Given the description of an element on the screen output the (x, y) to click on. 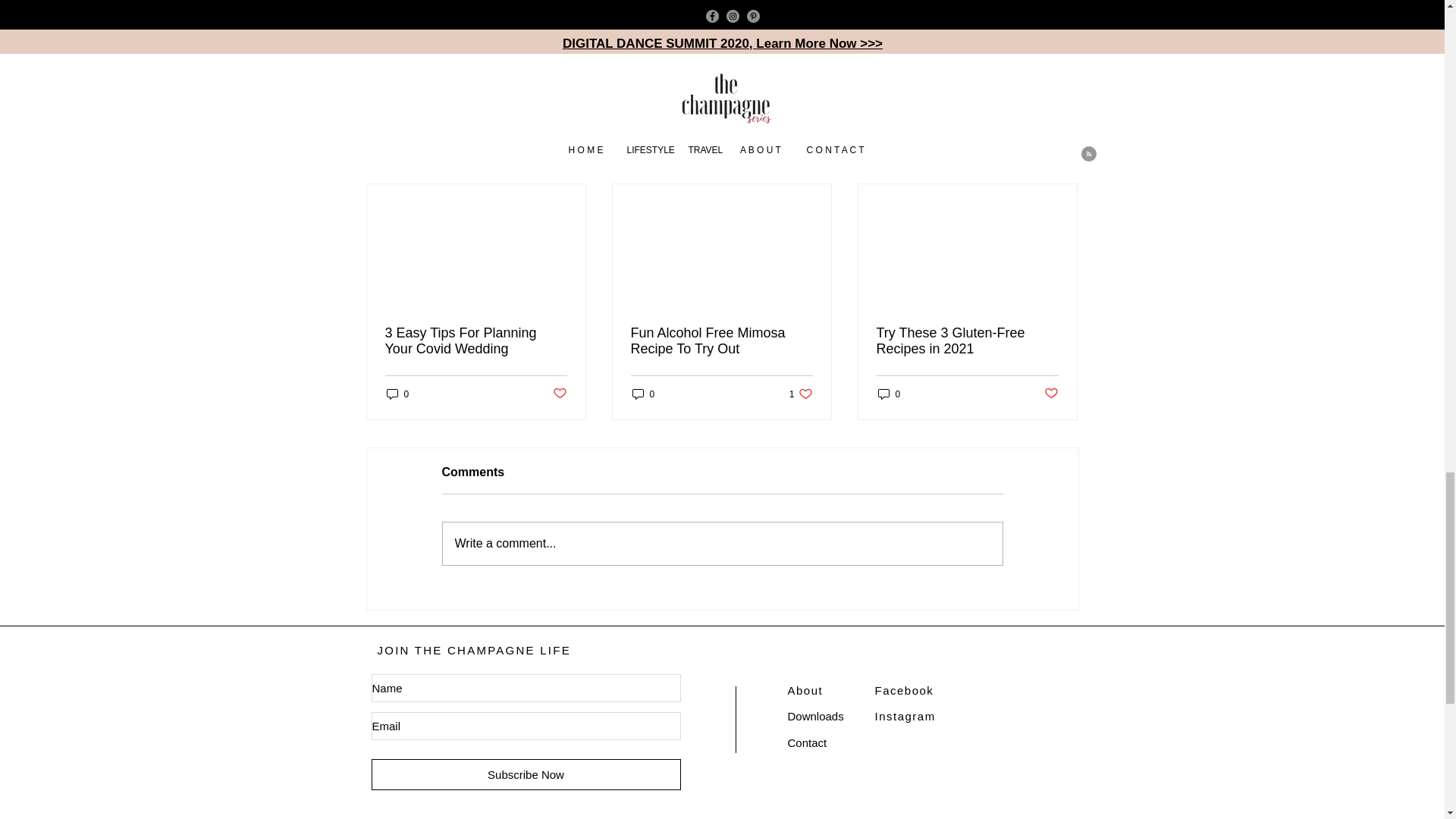
0 (397, 393)
Entertaining (974, 28)
0 (643, 393)
Write a comment... (722, 543)
Post not marked as liked (800, 393)
3 Easy Tips For Planning Your Covid Wedding (558, 393)
Try These 3 Gluten-Free Recipes in 2021 (476, 341)
See All (967, 341)
Fun Alcohol Free Mimosa Recipe To Try Out (1061, 157)
0 (721, 341)
Post not marked as liked (889, 393)
Post not marked as liked (1050, 393)
